Given the description of an element on the screen output the (x, y) to click on. 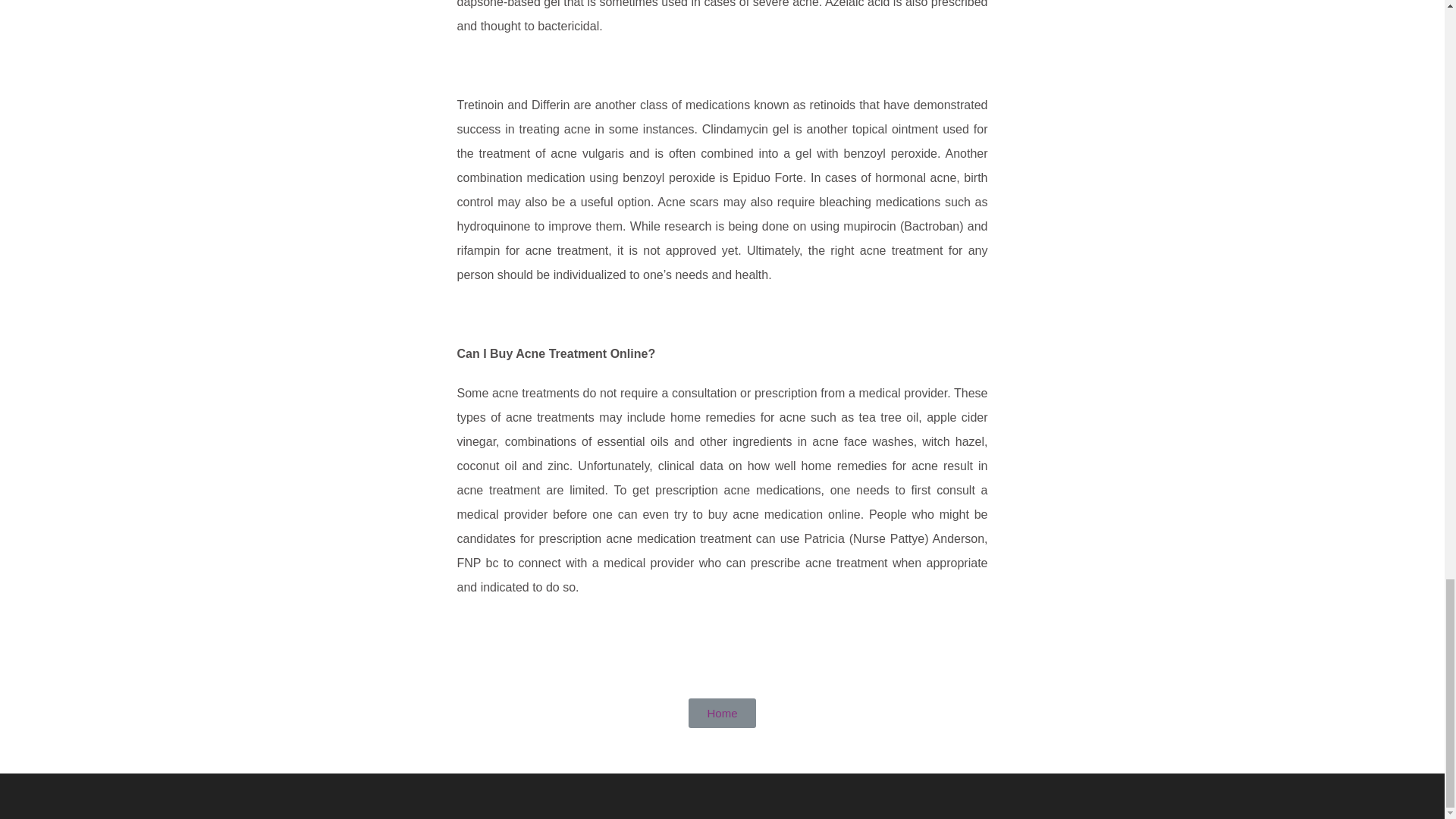
Home (721, 713)
